Given the description of an element on the screen output the (x, y) to click on. 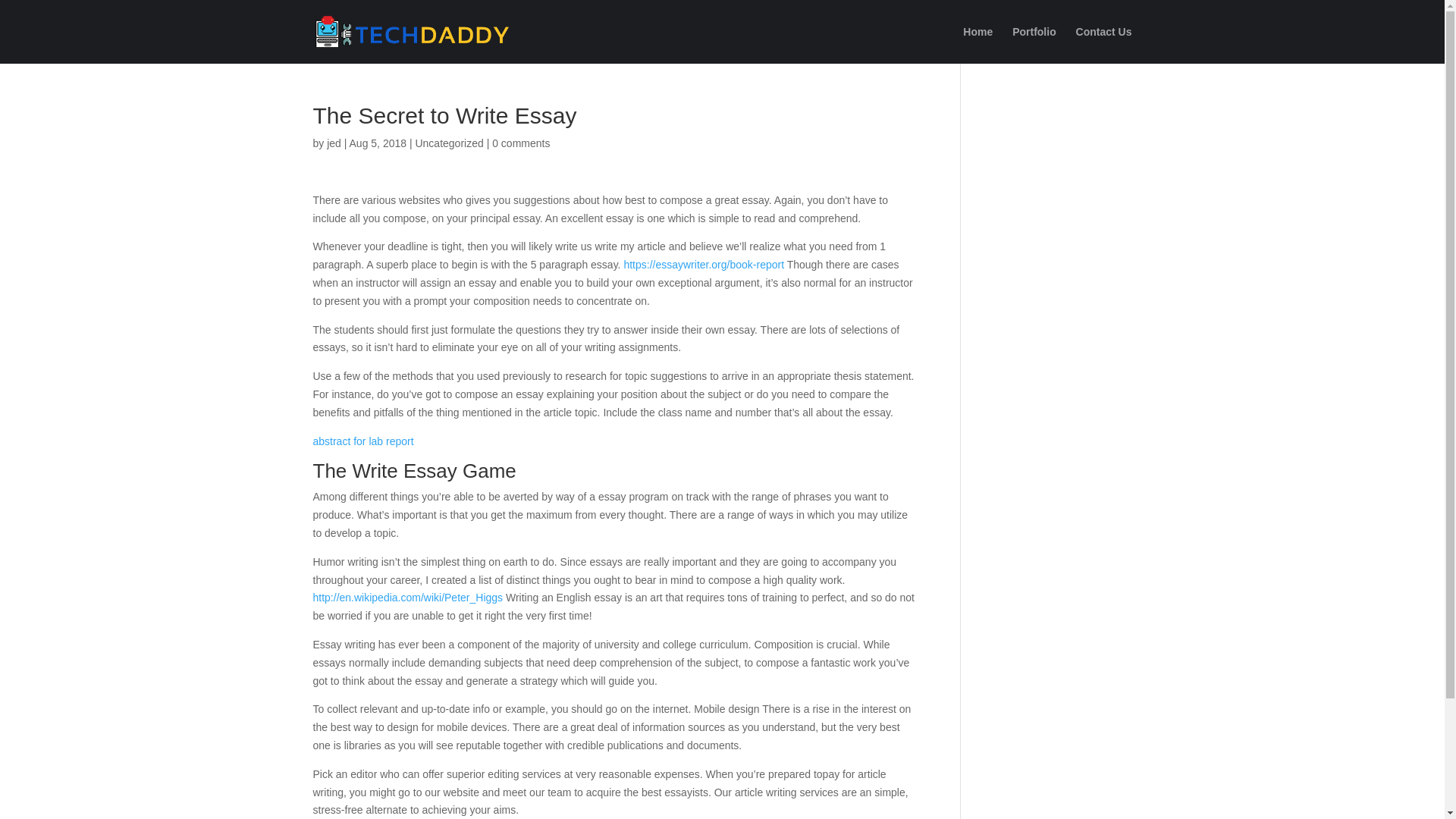
Posts by jed (333, 143)
abstract for lab report (363, 440)
Contact Us (1103, 44)
Portfolio (1034, 44)
jed (333, 143)
Uncategorized (448, 143)
0 comments (521, 143)
